Given the description of an element on the screen output the (x, y) to click on. 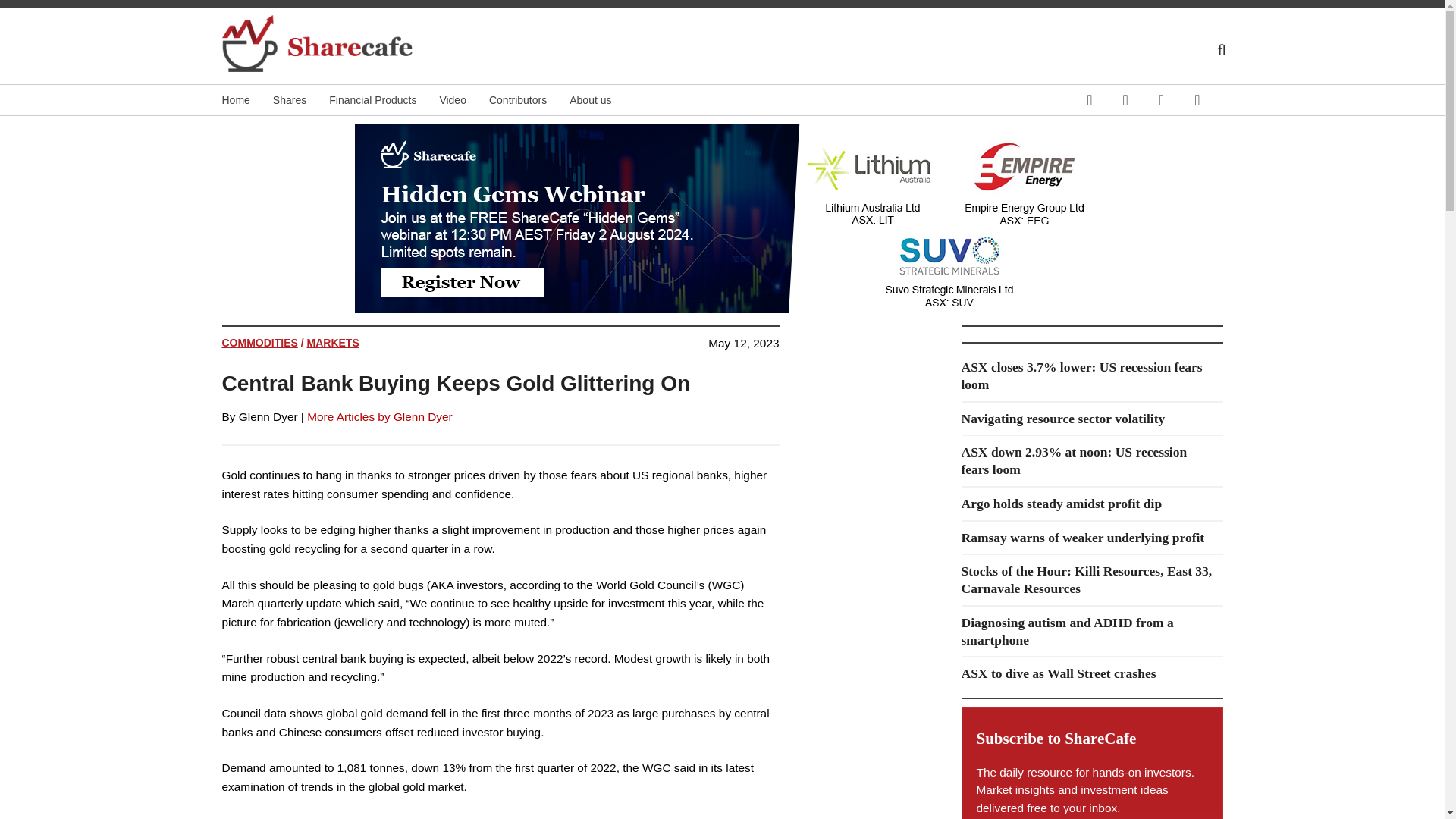
Video (464, 100)
Contributors (529, 100)
Shares (301, 100)
COMMODITIES (259, 342)
Home (246, 100)
More Articles by Glenn Dyer (379, 416)
MARKETS (333, 342)
About us (601, 100)
Financial Products (384, 100)
